Given the description of an element on the screen output the (x, y) to click on. 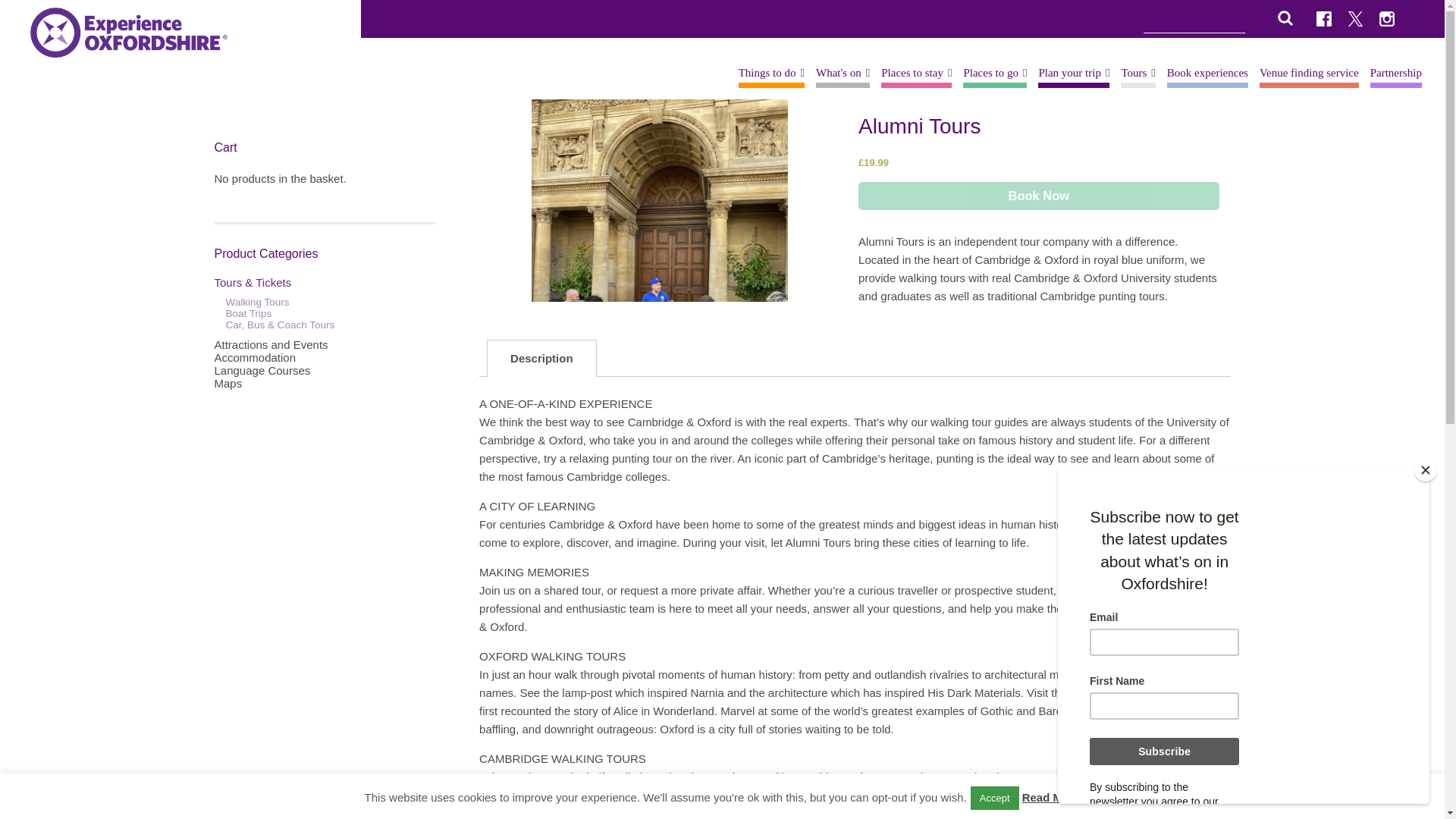
Search (21, 7)
Click to search (1221, 18)
Things to do (771, 72)
